Given the description of an element on the screen output the (x, y) to click on. 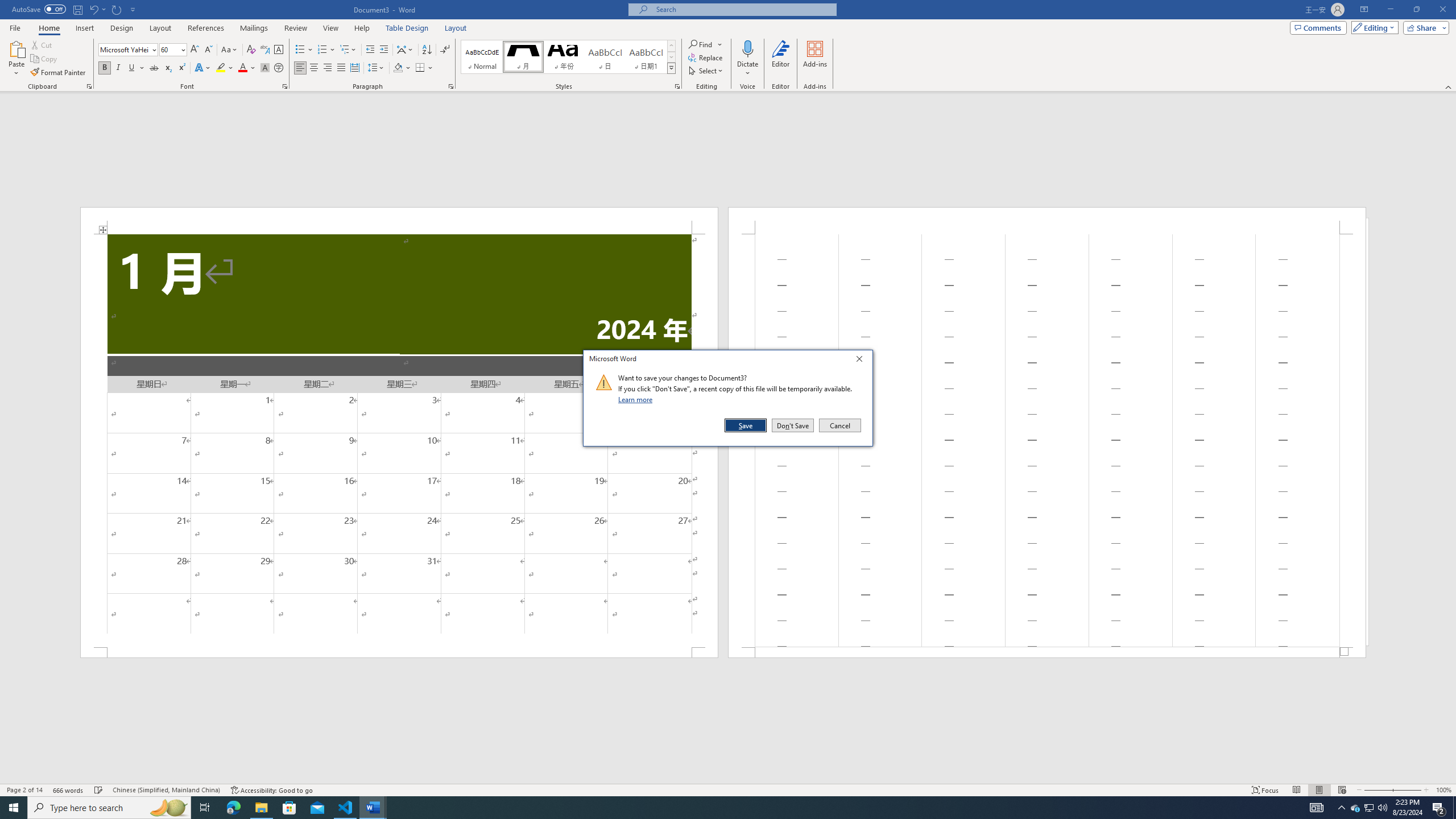
Strikethrough (154, 67)
Task View (204, 807)
Running applications (717, 807)
Borders (424, 67)
Bullets (300, 49)
Text Highlight Color Yellow (220, 67)
AutomationID: QuickStylesGallery (568, 56)
Shrink Font (208, 49)
Home (48, 28)
Find (705, 44)
Styles... (676, 85)
Review (295, 28)
